Given the description of an element on the screen output the (x, y) to click on. 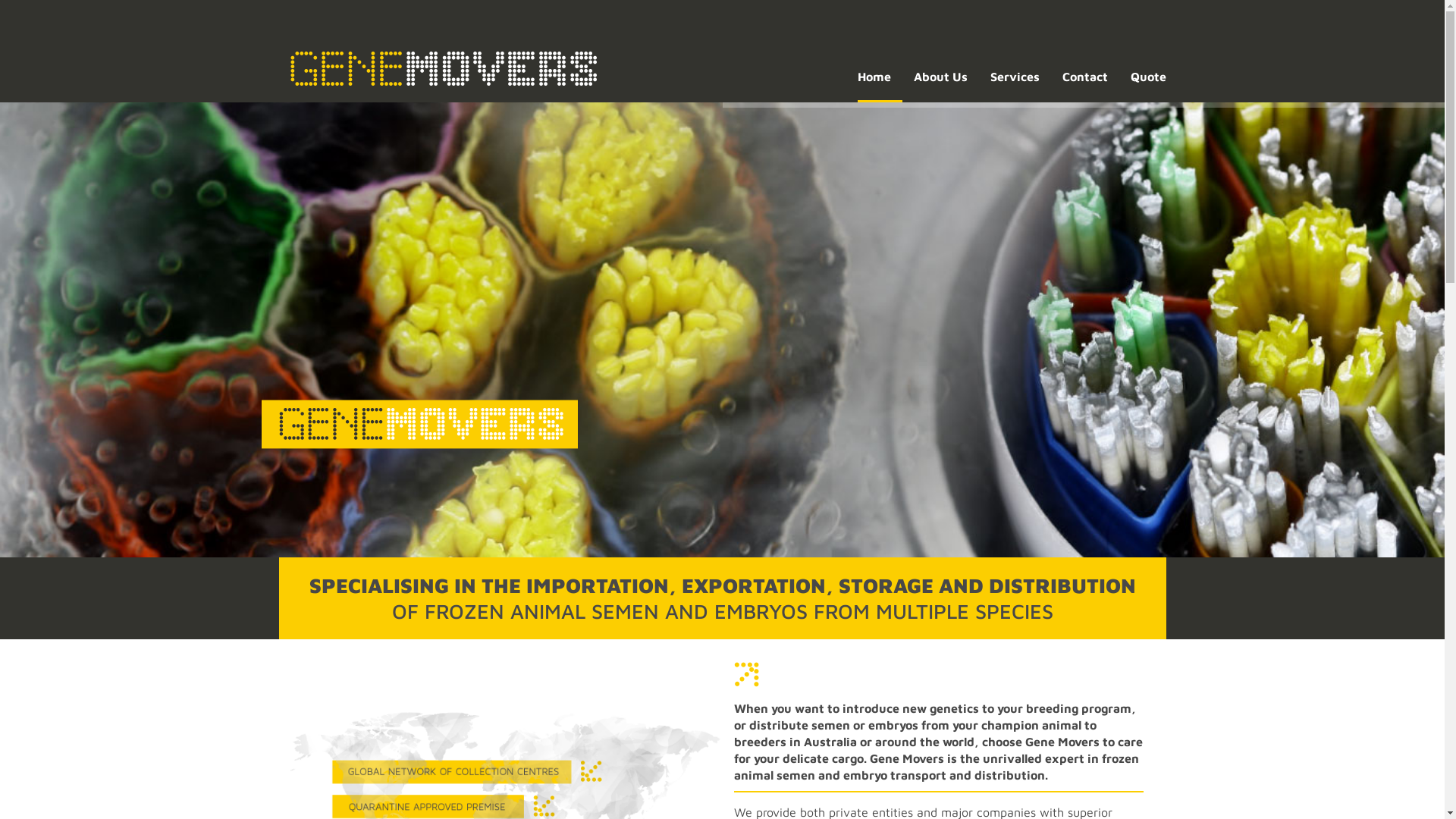
Gene Movers Element type: hover (442, 67)
Services Element type: text (1020, 76)
Quote Element type: text (1152, 76)
Contact Element type: text (1089, 76)
About Us Element type: text (945, 76)
Home Element type: text (878, 77)
